Given the description of an element on the screen output the (x, y) to click on. 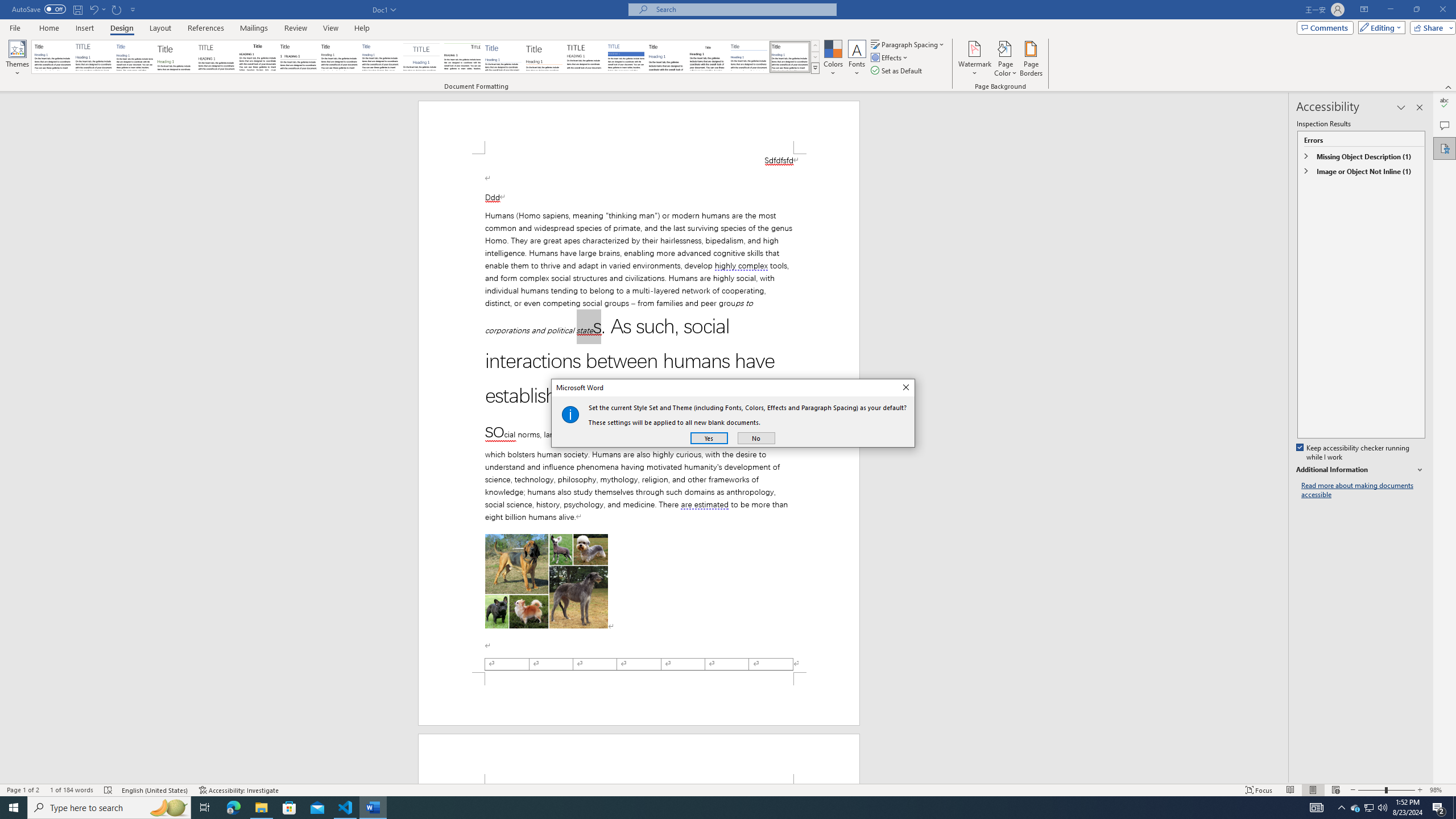
Paragraph Spacing (908, 44)
Watermark (974, 58)
Minimalist (584, 56)
Set as Default (897, 69)
Lines (Stylish) (544, 56)
Fonts (856, 58)
Search highlights icon opens search home window (167, 807)
Yes (709, 437)
File Explorer - 1 running window (261, 807)
